Given the description of an element on the screen output the (x, y) to click on. 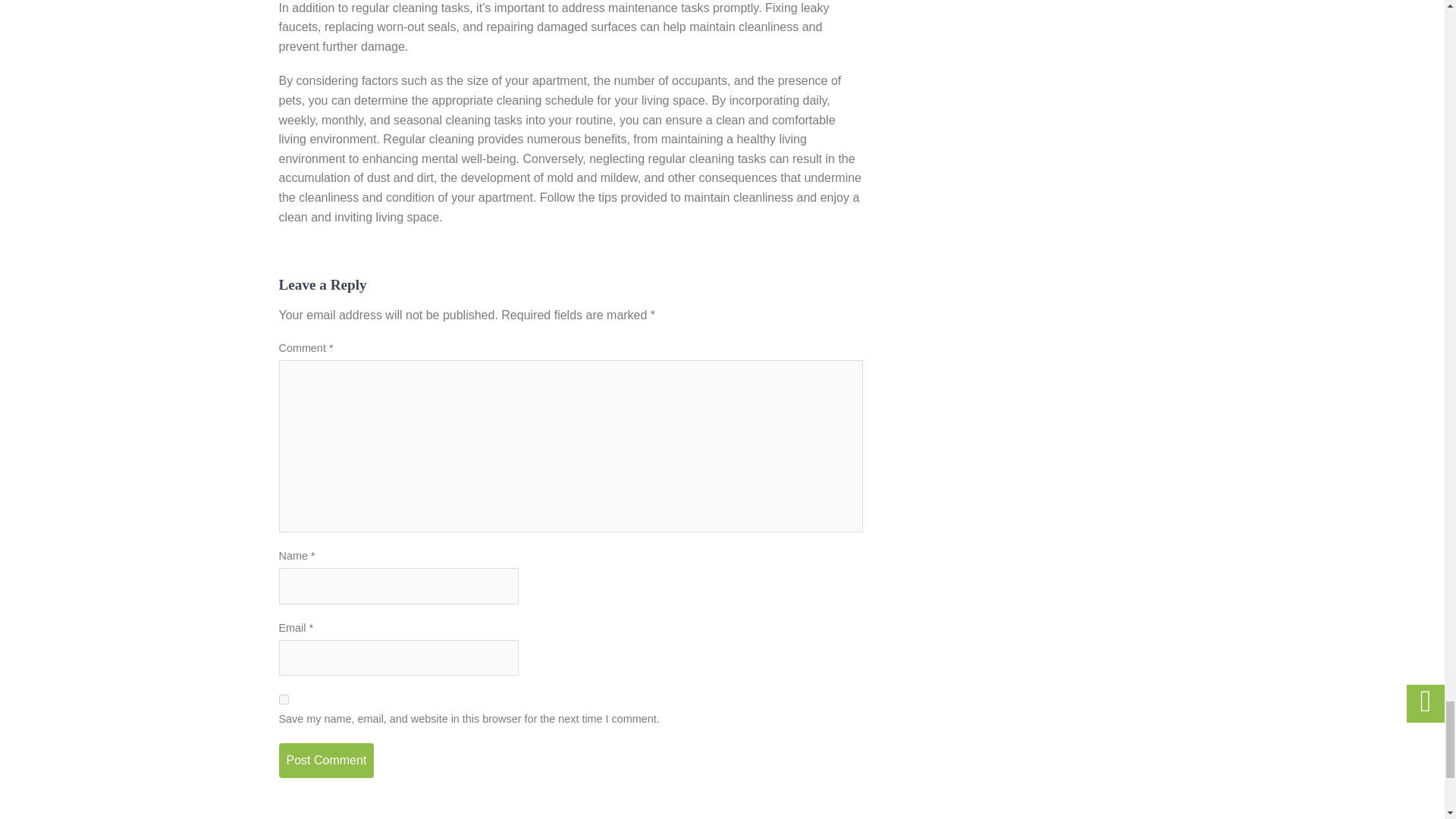
Post Comment (326, 760)
Post Comment (326, 760)
yes (283, 699)
